Given the description of an element on the screen output the (x, y) to click on. 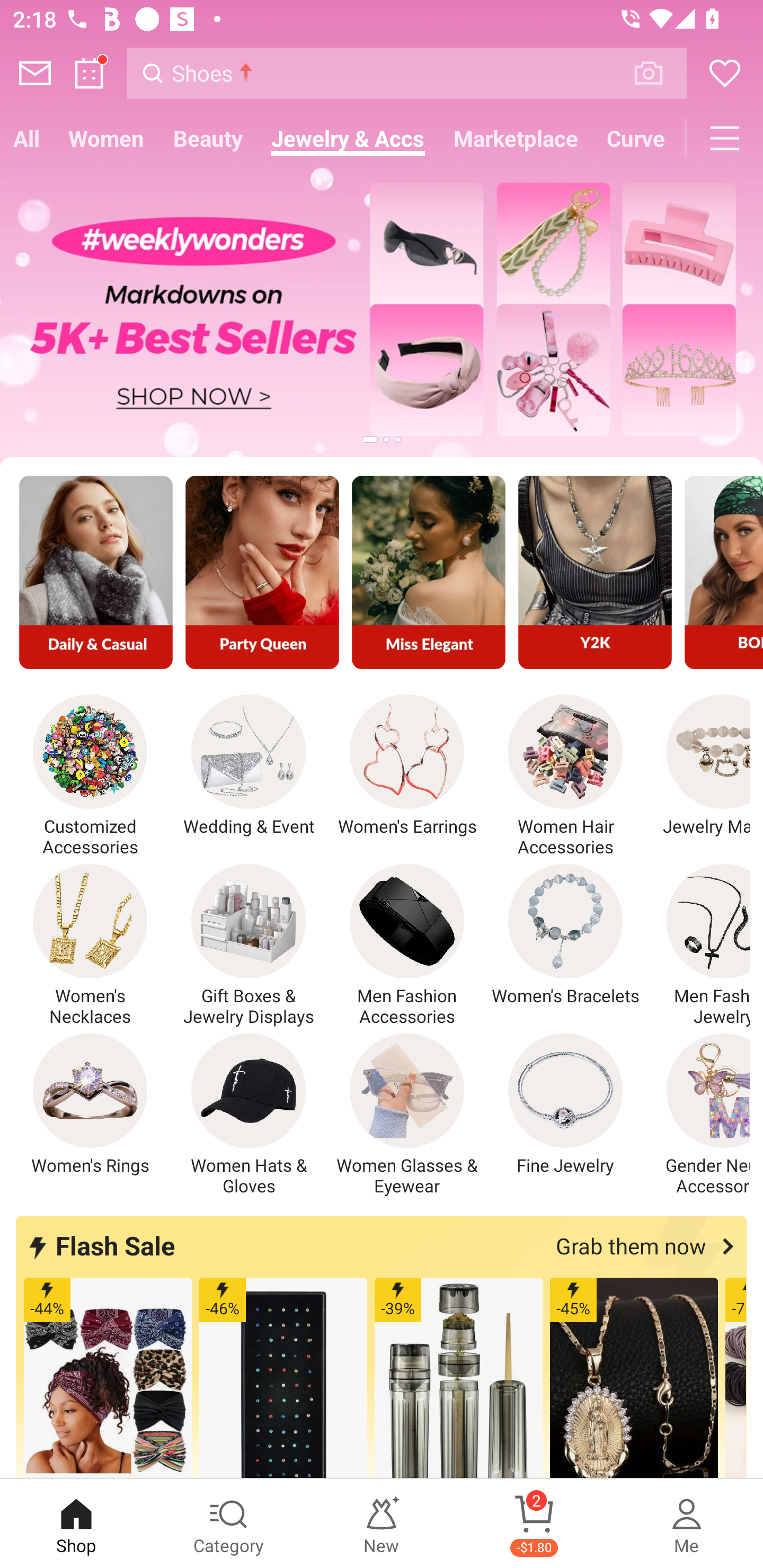
Wishlist (724, 72)
VISUAL SEARCH (657, 72)
All (27, 137)
Women (106, 137)
Beauty (207, 137)
Jewelry & Accs (348, 137)
Marketplace (515, 137)
Curve (635, 137)
Customized Accessories (89, 775)
Wedding & Event (248, 765)
Women's Earrings (406, 765)
Women Hair Accessories (565, 775)
Jewelry Making (698, 765)
Women's Necklaces (89, 945)
Gift Boxes & Jewelry Displays (248, 945)
Men Fashion Accessories (406, 945)
Women's Bracelets (565, 934)
Men Fashion Jewelry (698, 945)
Women's Rings (89, 1104)
Women Hats & Gloves (248, 1114)
Women Glasses & Eyewear (406, 1114)
Fine Jewelry (565, 1104)
Gender Neutral Accessories (698, 1114)
Category (228, 1523)
New (381, 1523)
Cart 2 -$1.80 (533, 1523)
Me (686, 1523)
